Given the description of an element on the screen output the (x, y) to click on. 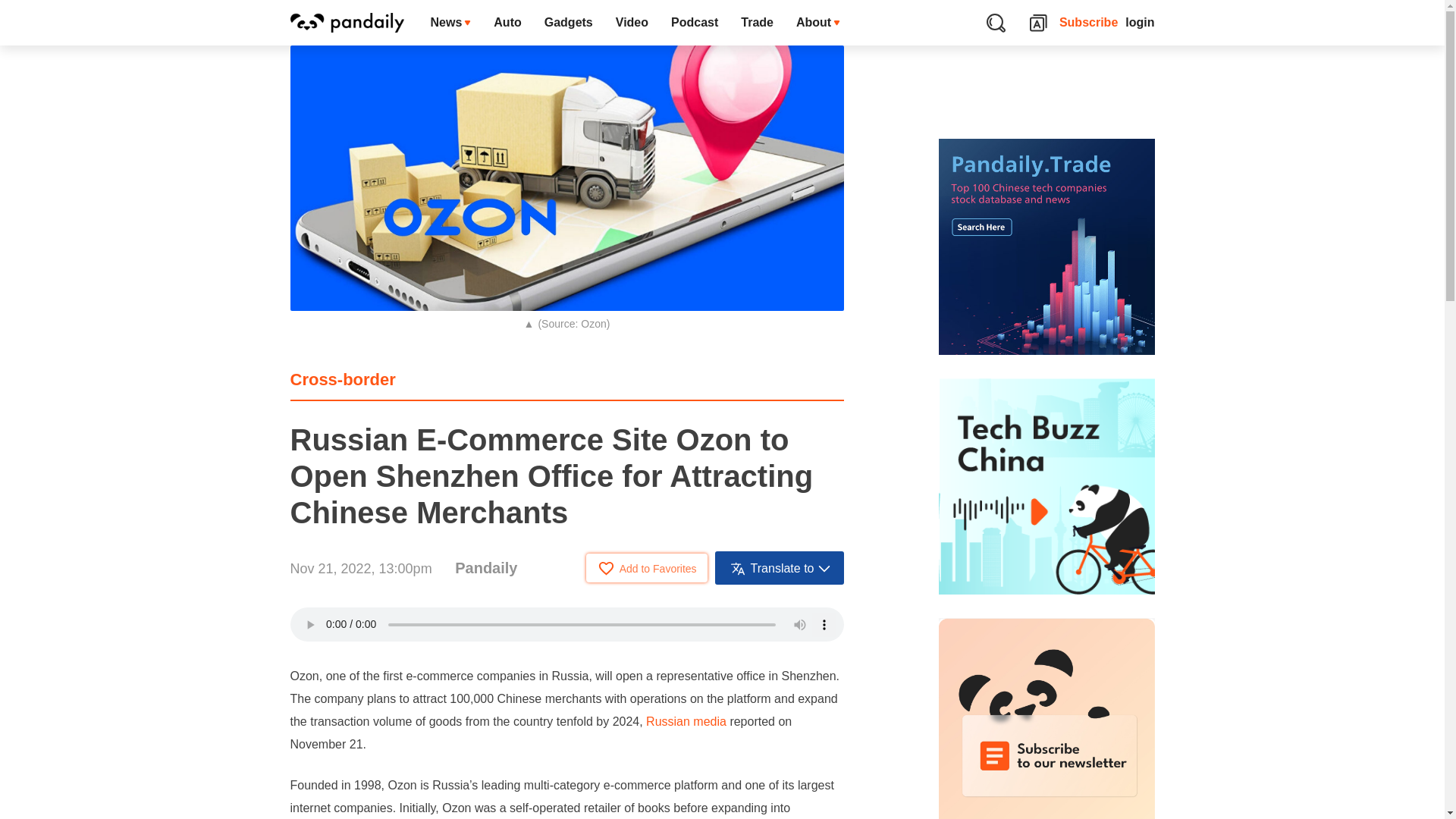
Russian media (686, 721)
Subscribe (1088, 22)
Auto (506, 22)
Nov 21, 2022, 13:00pm (359, 568)
Podcast (694, 22)
Trade (756, 22)
login (1139, 22)
Video (631, 22)
Gadgets (568, 22)
About (817, 22)
